Given the description of an element on the screen output the (x, y) to click on. 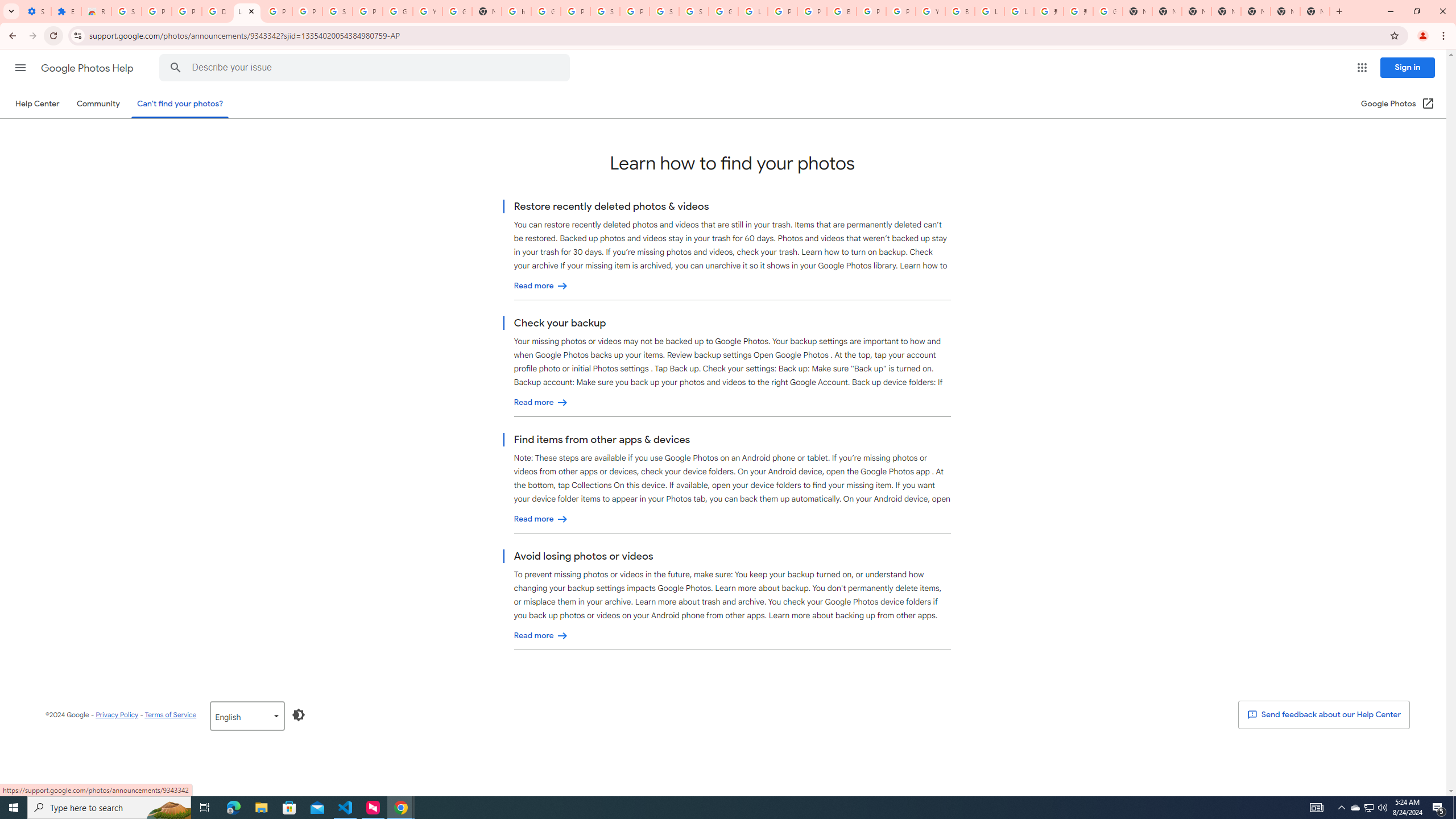
Privacy Help Center - Policies Help (782, 11)
Check your backup (541, 402)
